Given the description of an element on the screen output the (x, y) to click on. 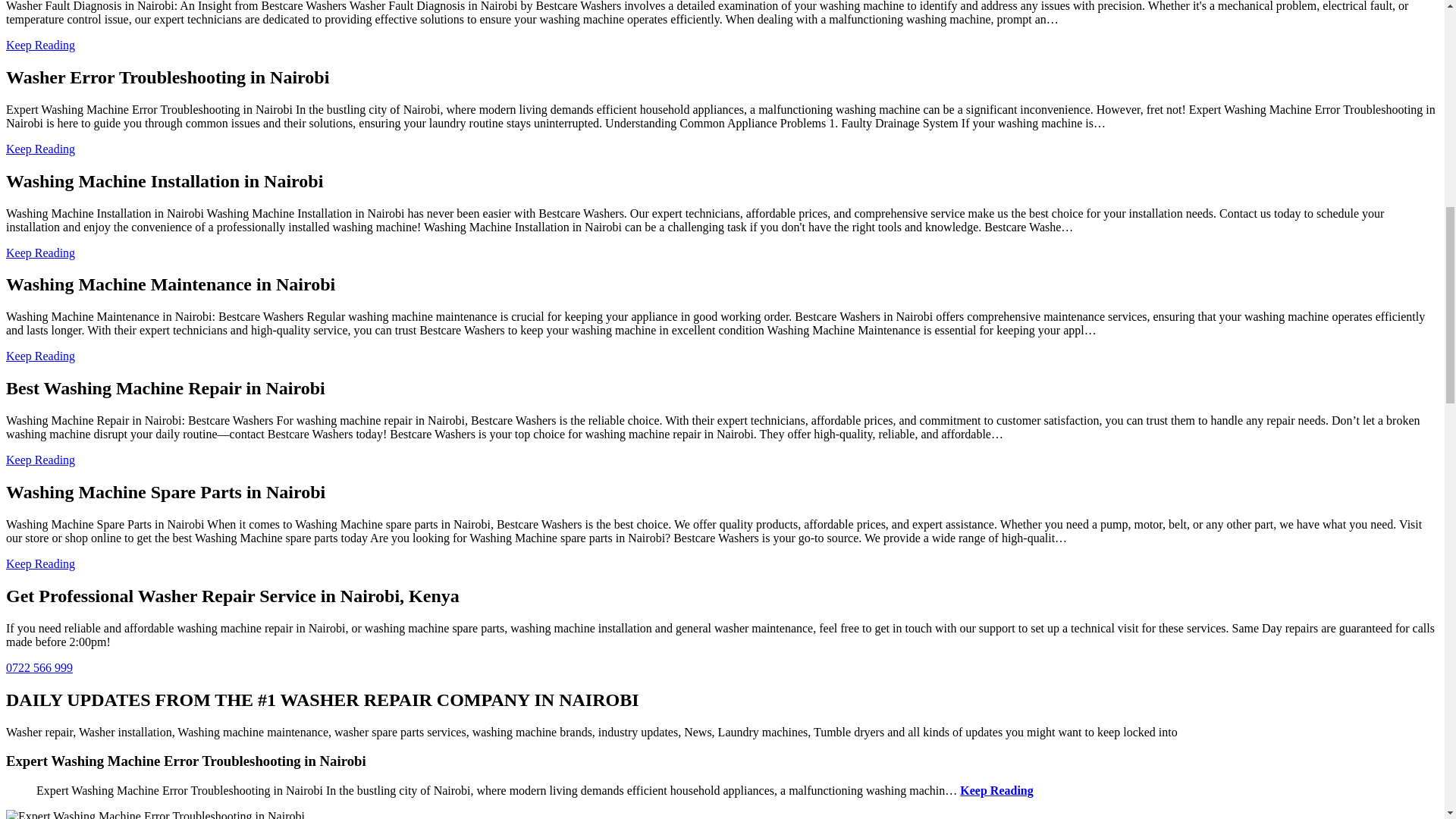
0722 566 999 (38, 667)
Keep Reading (40, 251)
Keep Reading (40, 148)
Keep Reading (995, 789)
Keep Reading (40, 563)
Keep Reading (40, 355)
Washing Machine Installation in Nairobi (40, 251)
Washer Error Troubleshooting in Nairobi (40, 148)
Washing Machine Fault Diagnosis in Nairobi (40, 44)
Keep Reading (40, 459)
